Given the description of an element on the screen output the (x, y) to click on. 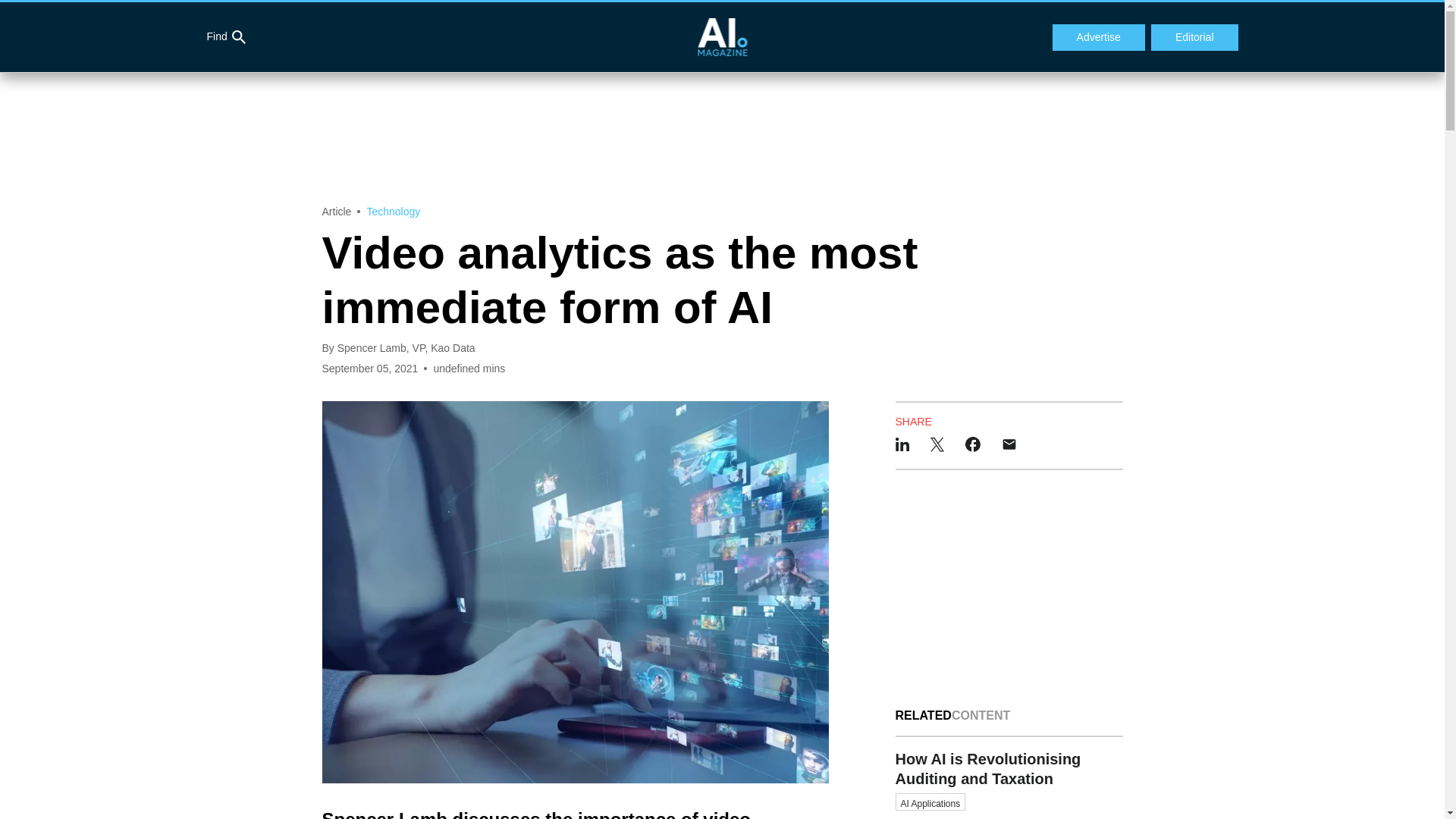
Find (225, 37)
Editorial (1195, 37)
Advertise (1098, 37)
